Given the description of an element on the screen output the (x, y) to click on. 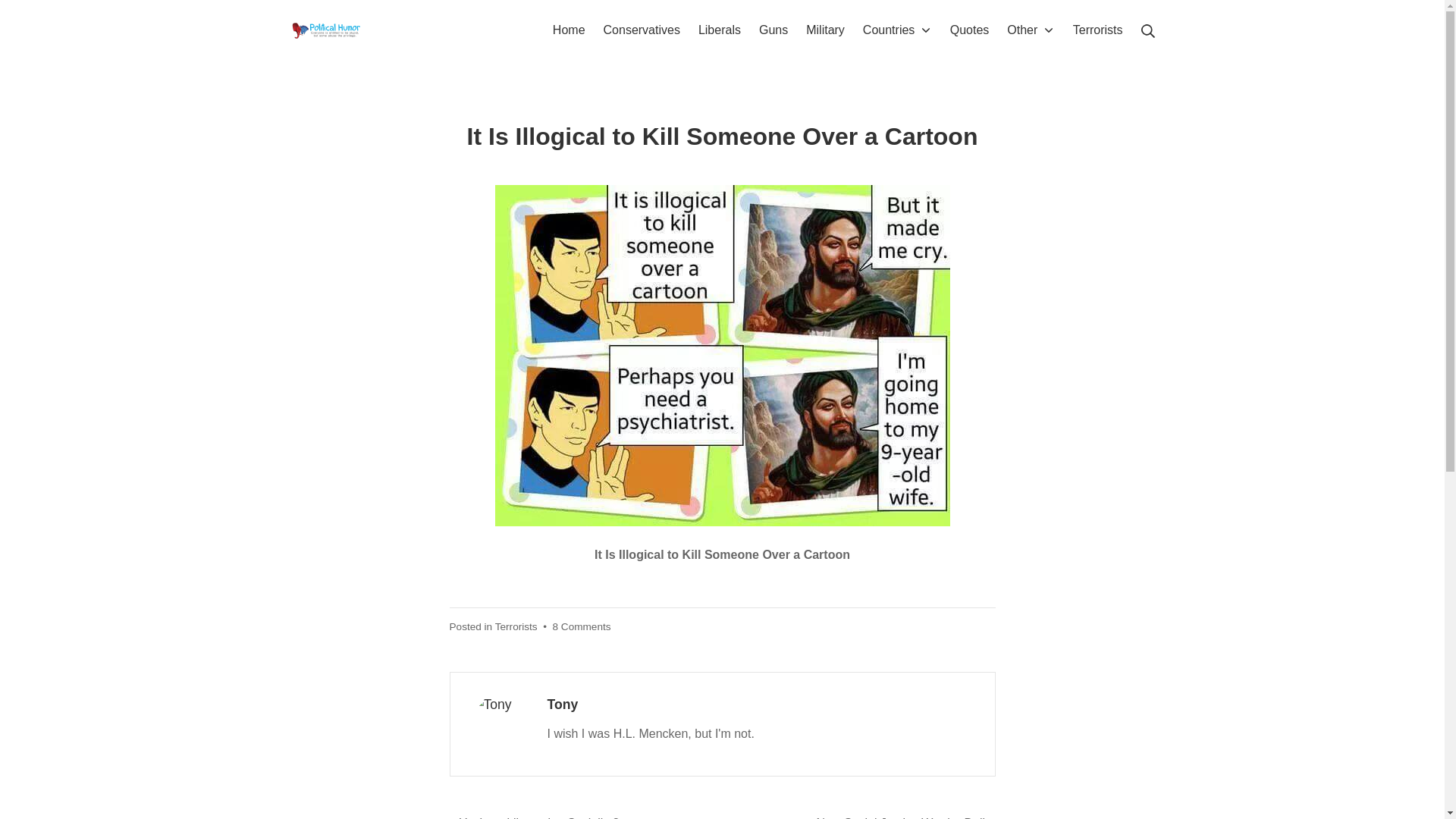
Home (569, 29)
Guns (772, 29)
Posts by Tony (562, 703)
Military (825, 29)
Terrorists (1097, 29)
Countries (897, 29)
Quotes (970, 29)
Conservatives (641, 29)
Liberals (719, 29)
Political Humor (327, 30)
